Given the description of an element on the screen output the (x, y) to click on. 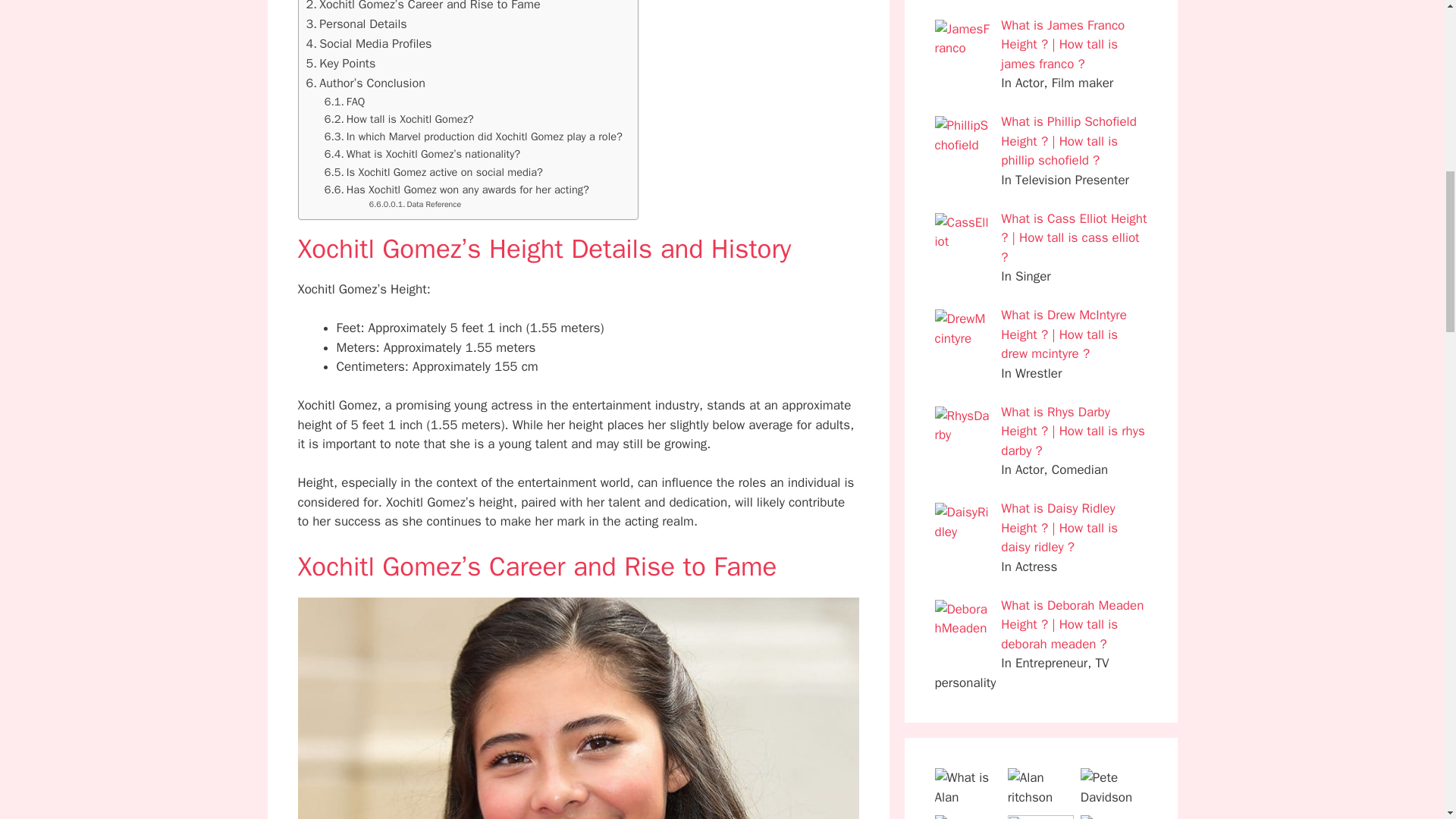
Social Media Profiles (368, 44)
Key Points (340, 63)
Personal Details (356, 24)
